Given the description of an element on the screen output the (x, y) to click on. 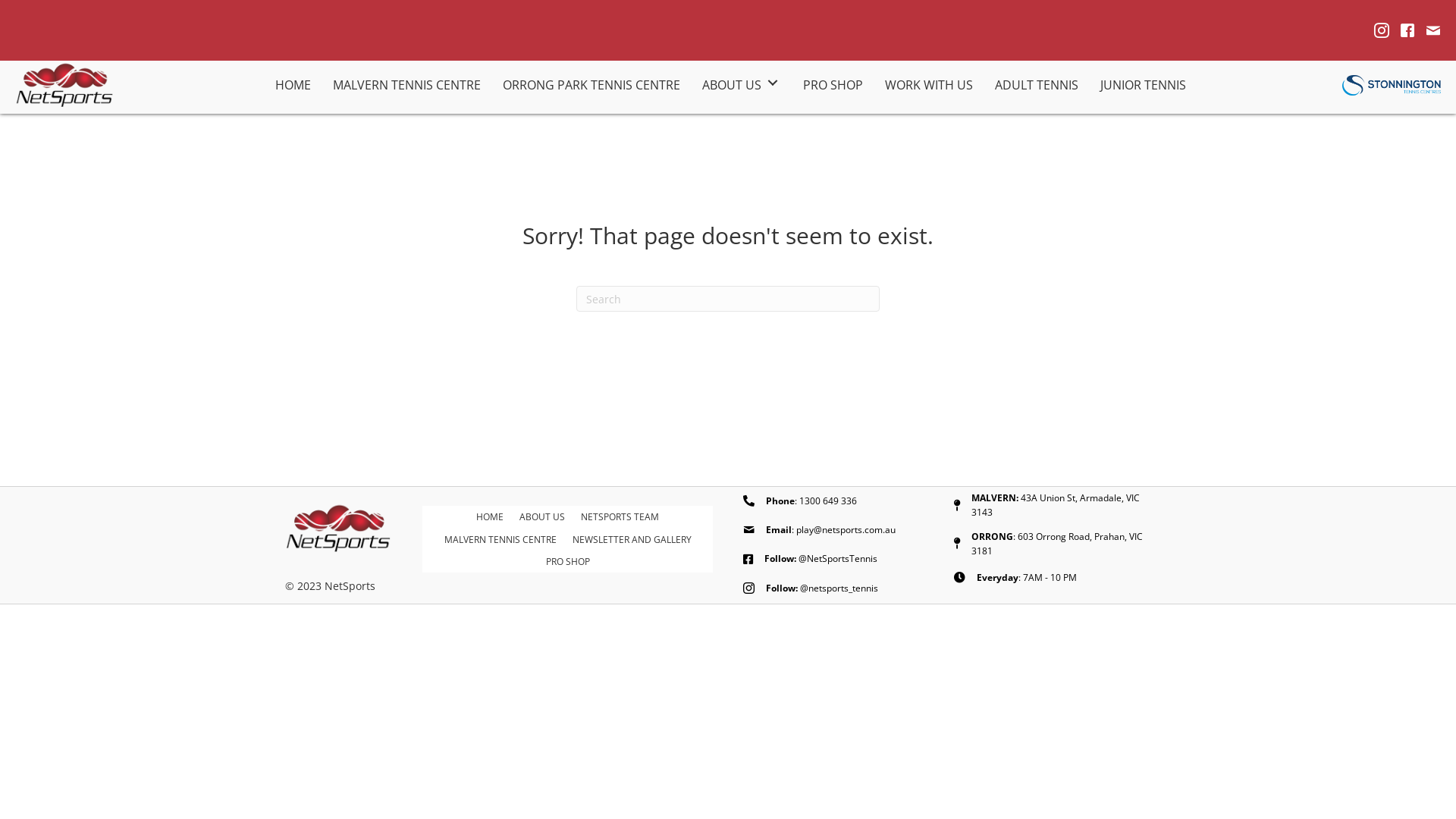
Type and press Enter to search. Element type: hover (727, 298)
NEWSLETTER AND GALLERY Element type: text (631, 539)
Email: play@netsports.com.au Element type: text (830, 529)
HOME Element type: text (489, 516)
HOME Element type: text (293, 83)
ORRONG PARK TENNIS CENTRE Element type: text (591, 83)
WORK WITH US Element type: text (928, 83)
Ston Logo Element type: hover (1391, 85)
NETSPORTS TEAM Element type: text (619, 516)
ORRONG: 603 Orrong Road, Prahan, VIC 3181 Element type: text (1056, 543)
New-Logo Element type: hover (338, 528)
MALVERN TENNIS CENTRE Element type: text (406, 83)
New-Logo Element type: hover (64, 84)
ABOUT US Element type: text (541, 516)
Follow: @netsports_tennis Element type: text (821, 587)
ABOUT US Element type: text (741, 83)
PRO SHOP Element type: text (832, 83)
JUNIOR TENNIS Element type: text (1143, 83)
ADULT TENNIS Element type: text (1036, 83)
MALVERN: 43A Union St, Armadale, VIC 3143 Element type: text (1055, 504)
MALVERN TENNIS CENTRE Element type: text (500, 539)
Follow: @NetSportsTennis Element type: text (820, 558)
PRO SHOP Element type: text (567, 561)
